Given the description of an element on the screen output the (x, y) to click on. 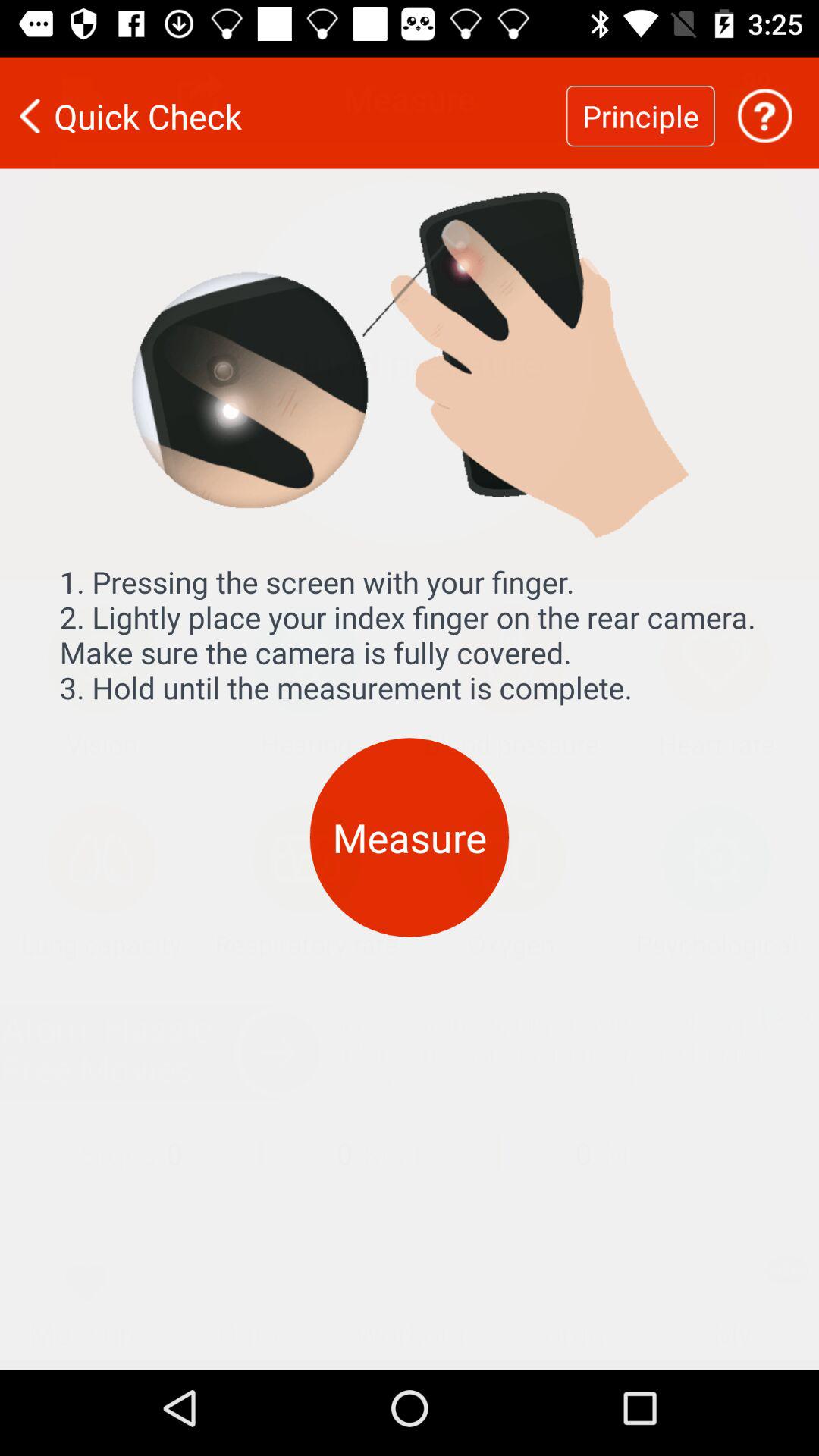
turn off icon to the right of the principle icon (764, 106)
